Given the description of an element on the screen output the (x, y) to click on. 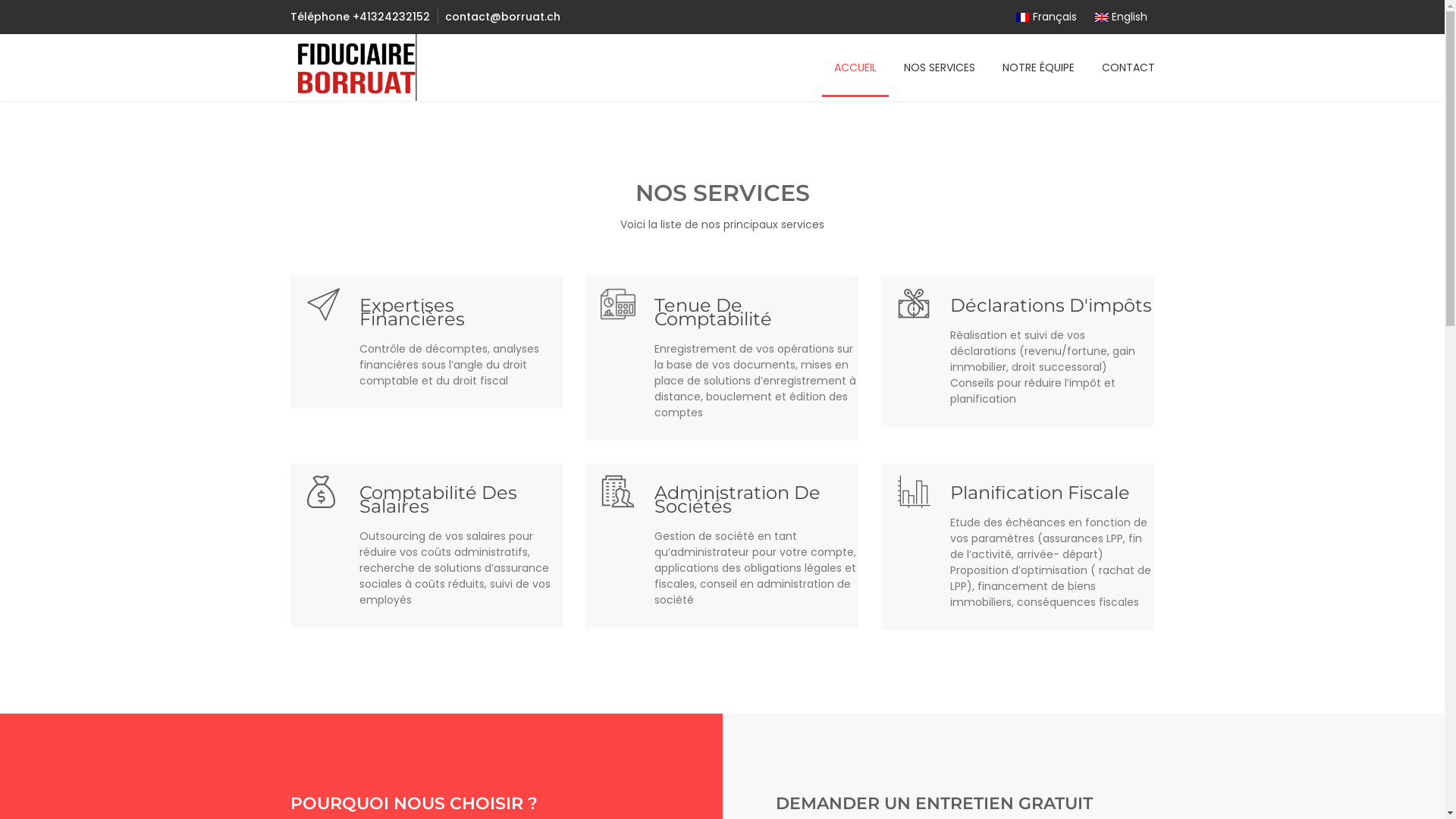
ACCUEIL Element type: text (855, 67)
NOS SERVICES Element type: text (939, 67)
 English Element type: text (1120, 16)
CONTACT Element type: text (1127, 67)
contact@borruat.ch Element type: text (501, 16)
Fiduciaire Borruat SA Element type: hover (357, 67)
